Given the description of an element on the screen output the (x, y) to click on. 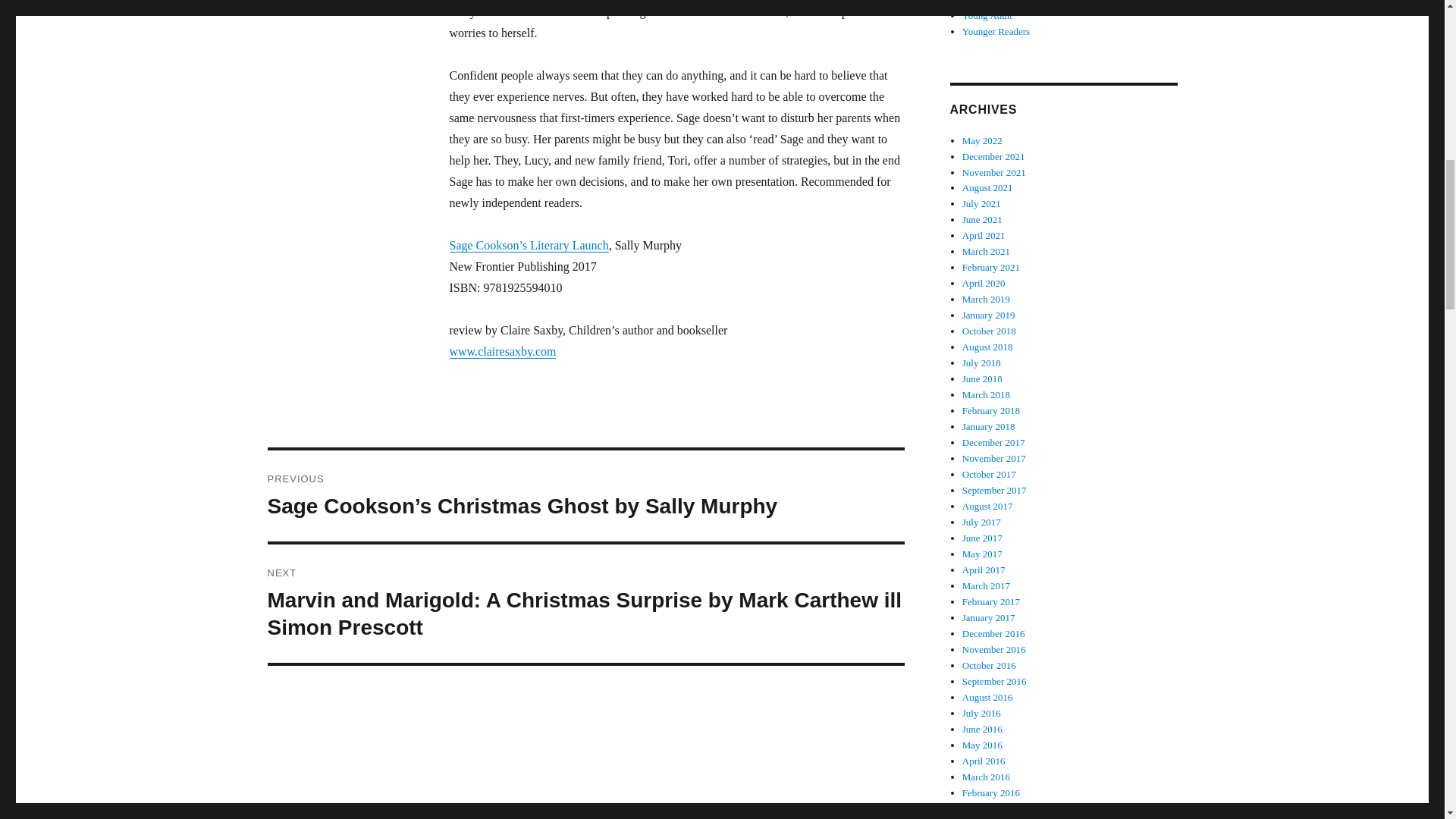
Younger Readers (995, 30)
December 2021 (993, 156)
May 2022 (982, 140)
Uncategorised (990, 2)
Young Adult (986, 15)
www.clairesaxby.com (502, 350)
November 2021 (994, 172)
